Given the description of an element on the screen output the (x, y) to click on. 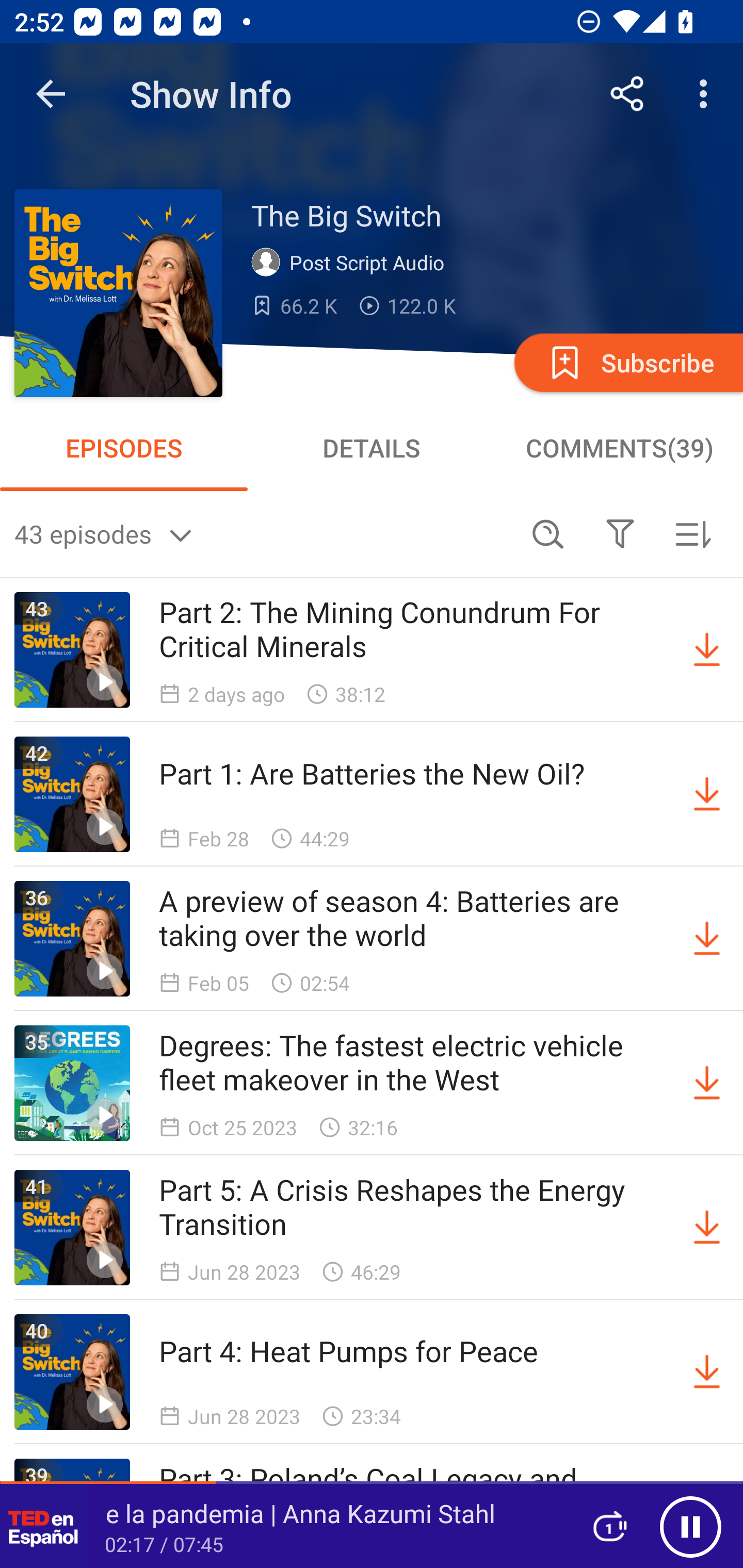
Navigate up (50, 93)
Share (626, 93)
More options (706, 93)
Post Script Audio (352, 262)
Subscribe (627, 361)
EPISODES (123, 447)
DETAILS (371, 447)
COMMENTS(39) (619, 447)
43 episodes  (262, 533)
 Search (547, 533)
 (619, 533)
 Sorted by newest first (692, 533)
Download (706, 649)
Download (706, 793)
Download (706, 939)
Download (706, 1083)
Download (706, 1227)
Download (706, 1371)
Pause (690, 1526)
